Given the description of an element on the screen output the (x, y) to click on. 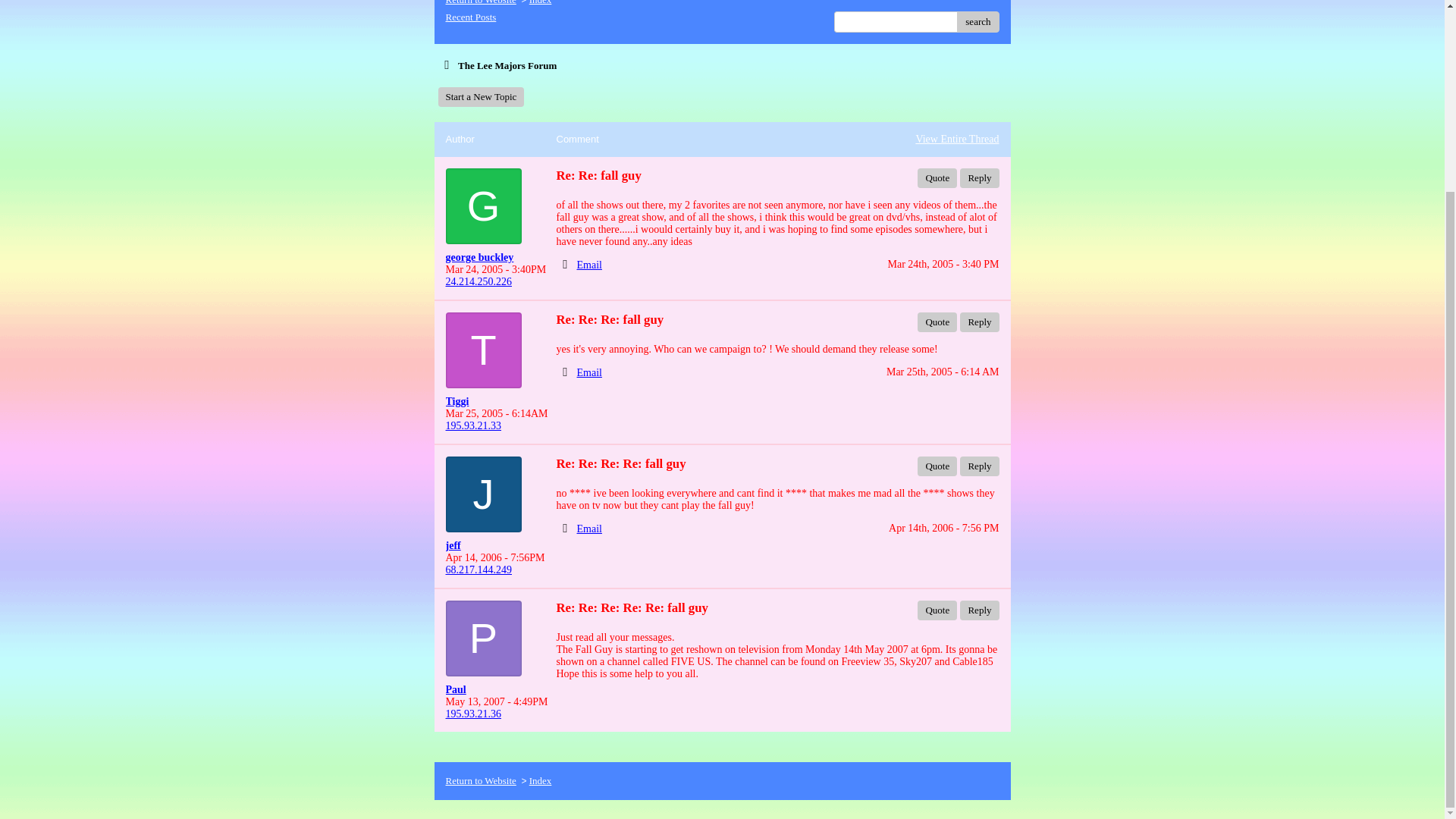
Lookup all posts from this IP Address (478, 569)
24.214.250.226 (478, 281)
Lookup all posts from this IP Address (478, 281)
Quote (936, 609)
Tiggi (494, 401)
Messages from this User (479, 256)
View Entire Thread (956, 138)
Return to Website (480, 780)
Recent Posts (470, 16)
Paul (494, 689)
195.93.21.36 (473, 713)
Quote (936, 178)
Start a New Topic (481, 96)
Reply (978, 178)
Quote (936, 465)
